Given the description of an element on the screen output the (x, y) to click on. 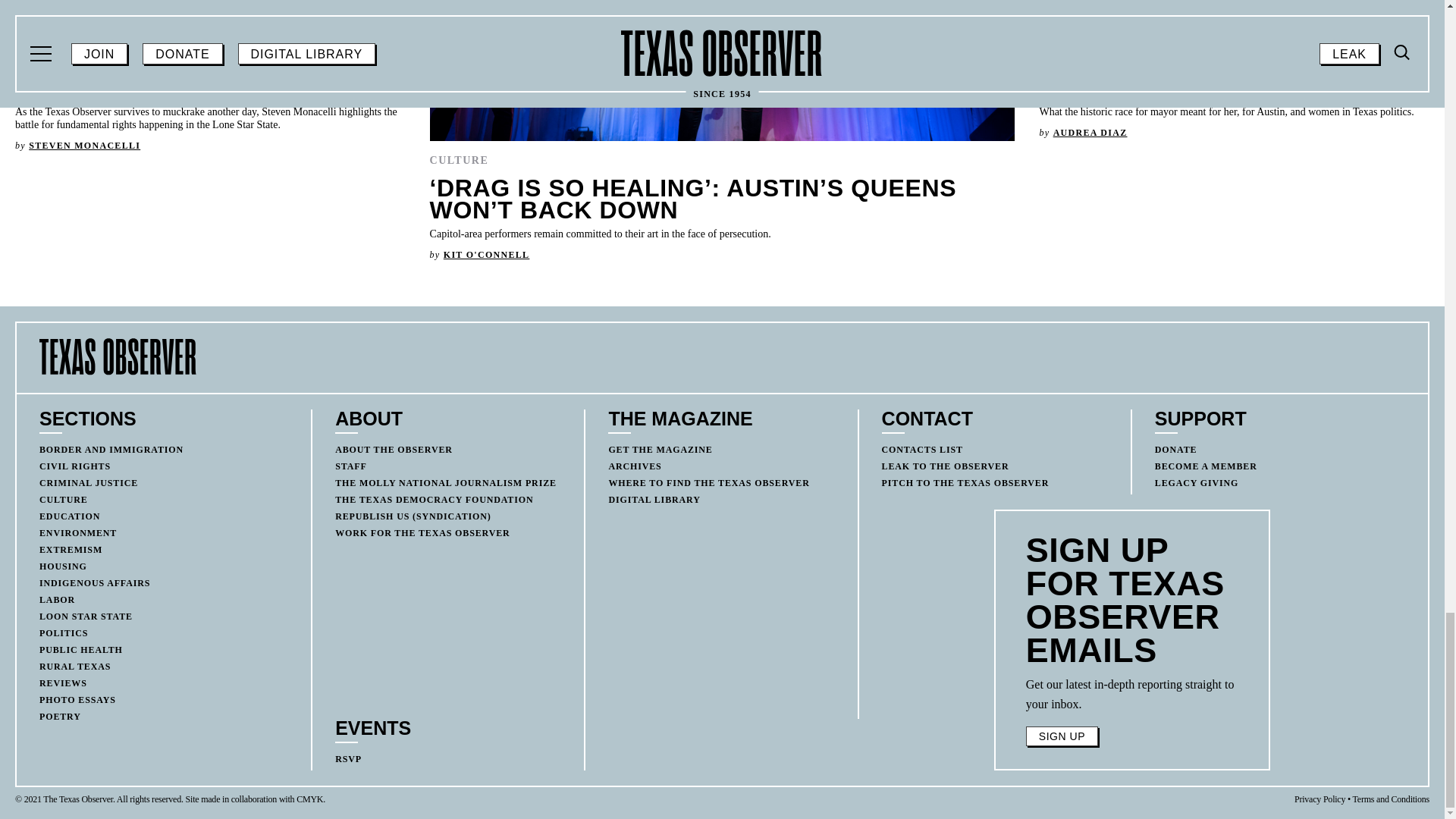
Page 6 (1132, 694)
Post by Steven Monacelli (84, 145)
Post by Kit O'Connell (486, 254)
Post by Audrea Diaz (1089, 132)
